Given the description of an element on the screen output the (x, y) to click on. 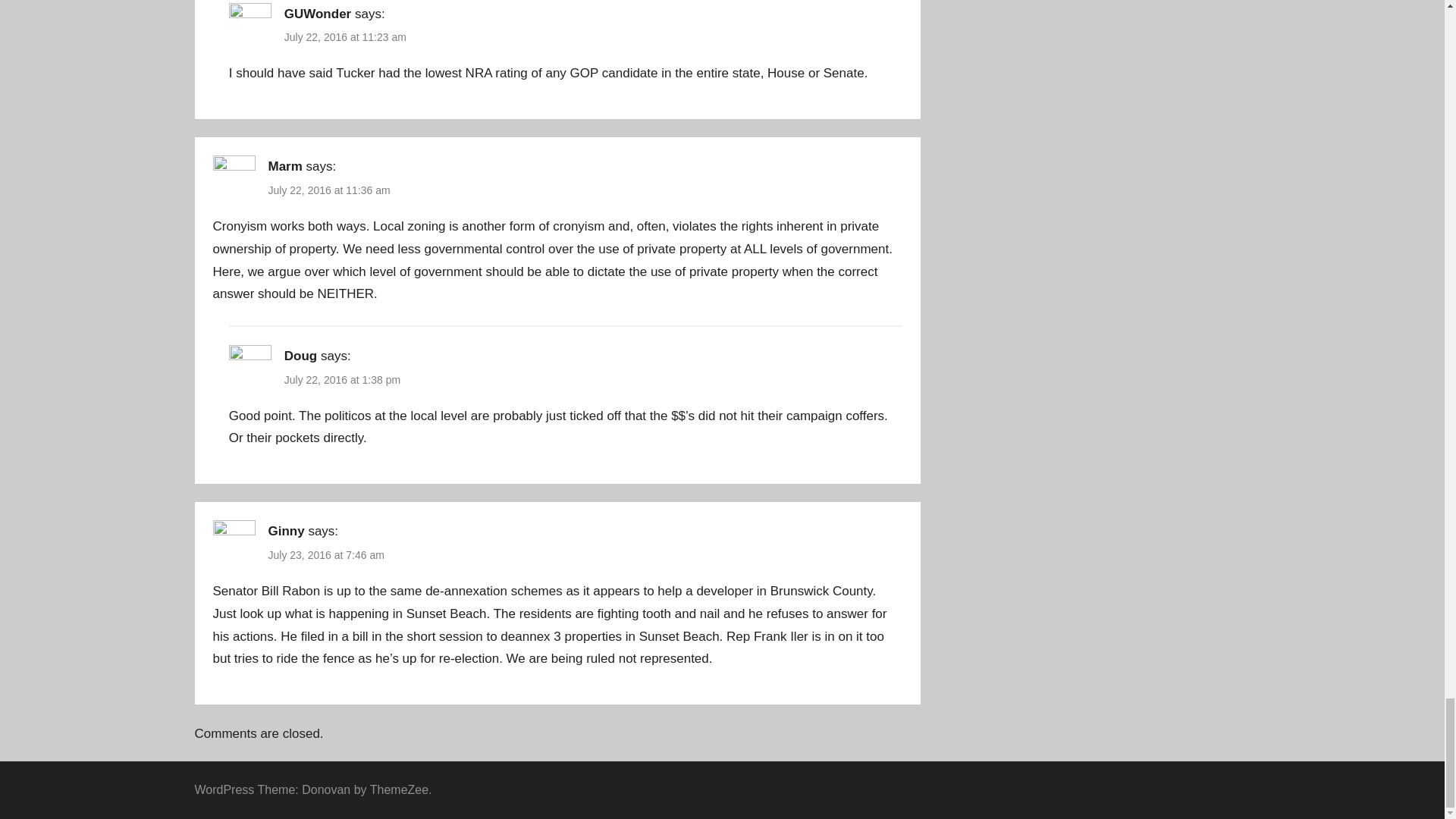
July 22, 2016 at 11:36 am (328, 190)
July 23, 2016 at 7:46 am (325, 554)
July 22, 2016 at 11:23 am (344, 37)
July 22, 2016 at 1:38 pm (341, 379)
